Given the description of an element on the screen output the (x, y) to click on. 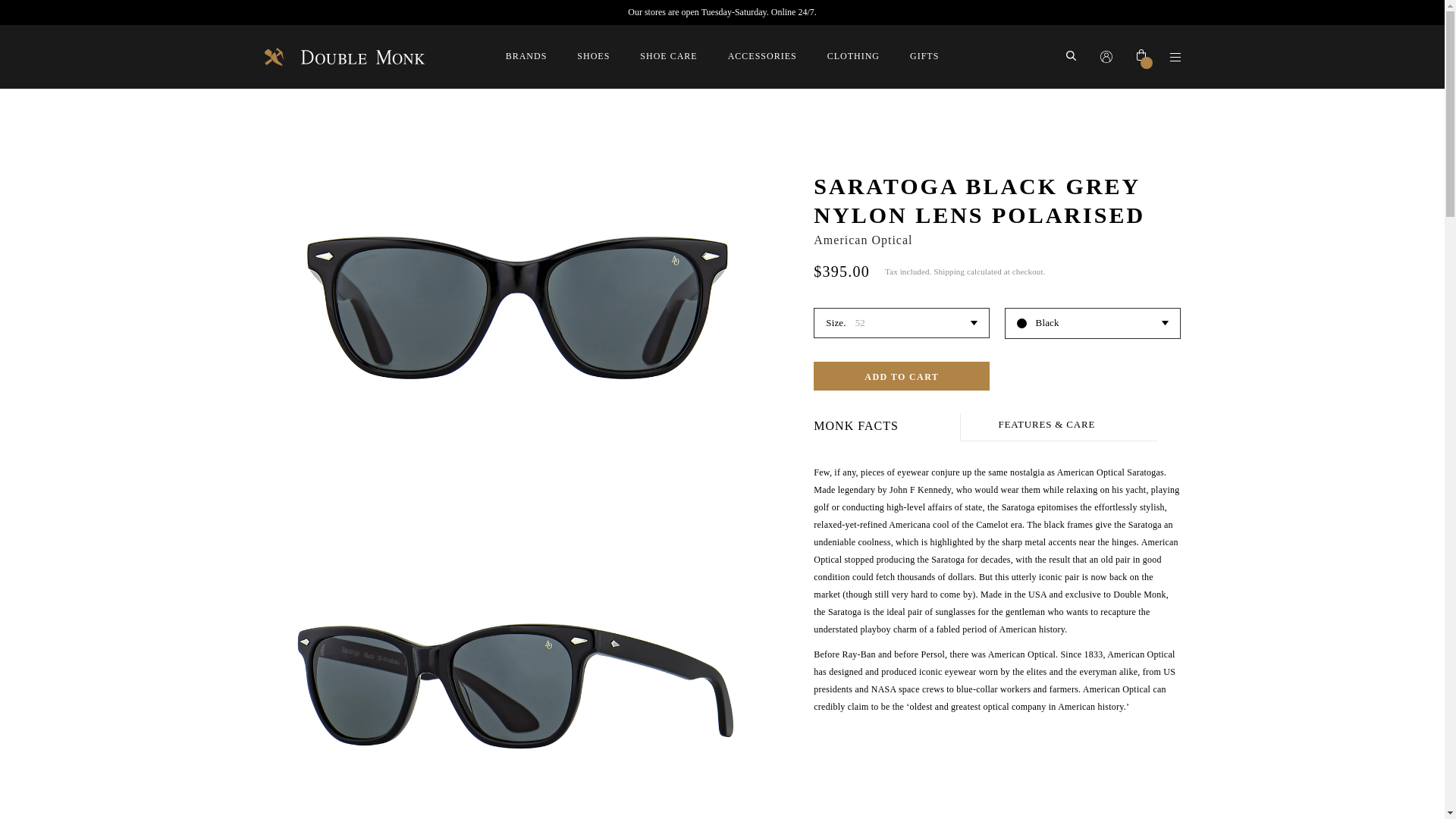
ACCESSORIES (762, 55)
SHOE CARE (668, 55)
GIFTS (924, 55)
SHOES (593, 55)
BRANDS (526, 55)
American Optical (862, 239)
CLOTHING (853, 55)
